Given the description of an element on the screen output the (x, y) to click on. 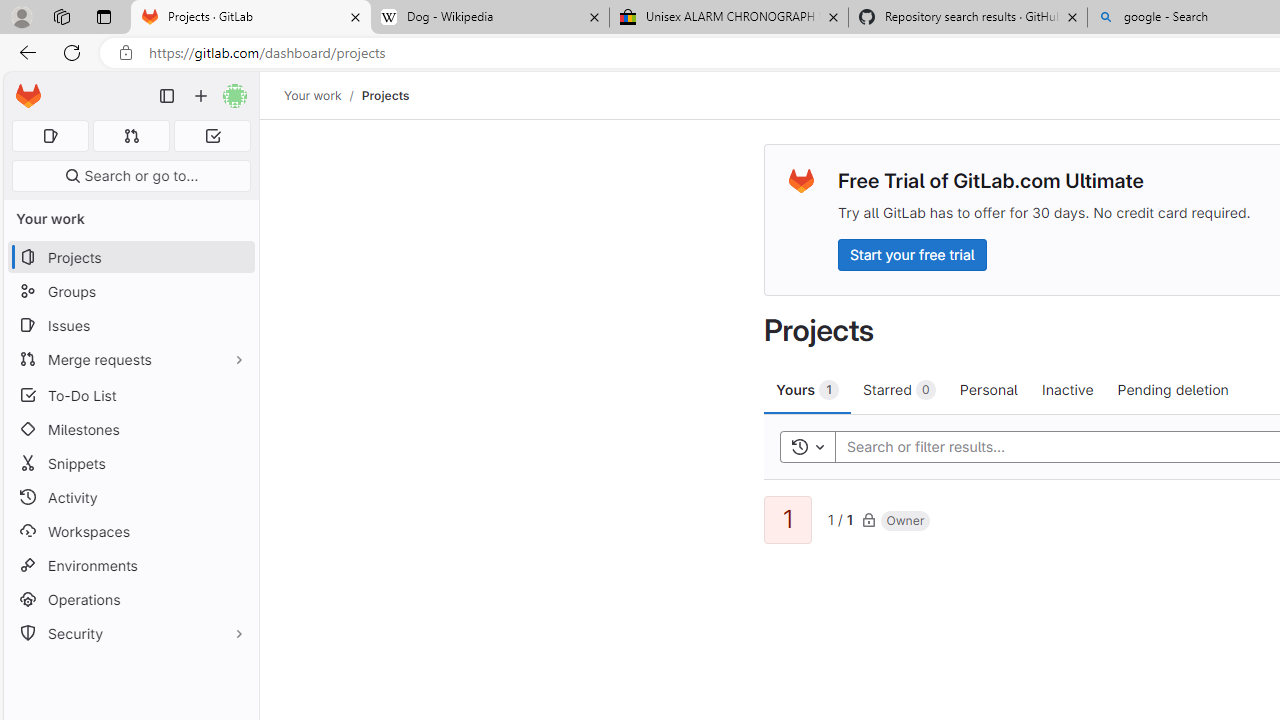
Milestones (130, 429)
Issues (130, 325)
Merge requests (130, 358)
Your work/ (323, 95)
Projects (384, 95)
Start your free trial (912, 254)
Snippets (130, 463)
Groups (130, 291)
1 (787, 519)
Projects (384, 95)
Yours 1 (808, 389)
Operations (130, 599)
Milestones (130, 429)
